Given the description of an element on the screen output the (x, y) to click on. 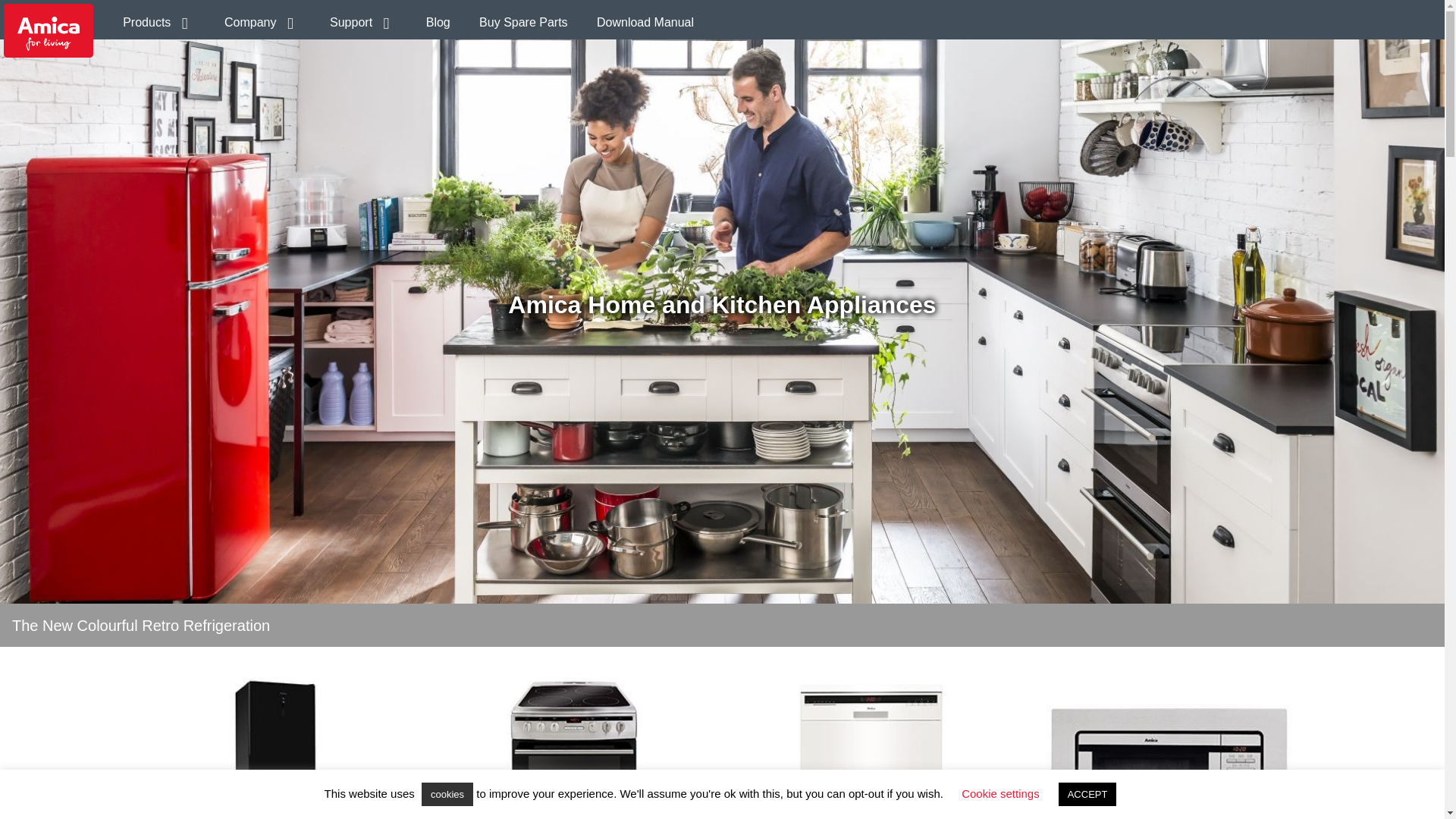
Toggle Drop-down (358, 22)
Toggle Drop-down (155, 22)
Toggle Drop-down (258, 22)
